Given the description of an element on the screen output the (x, y) to click on. 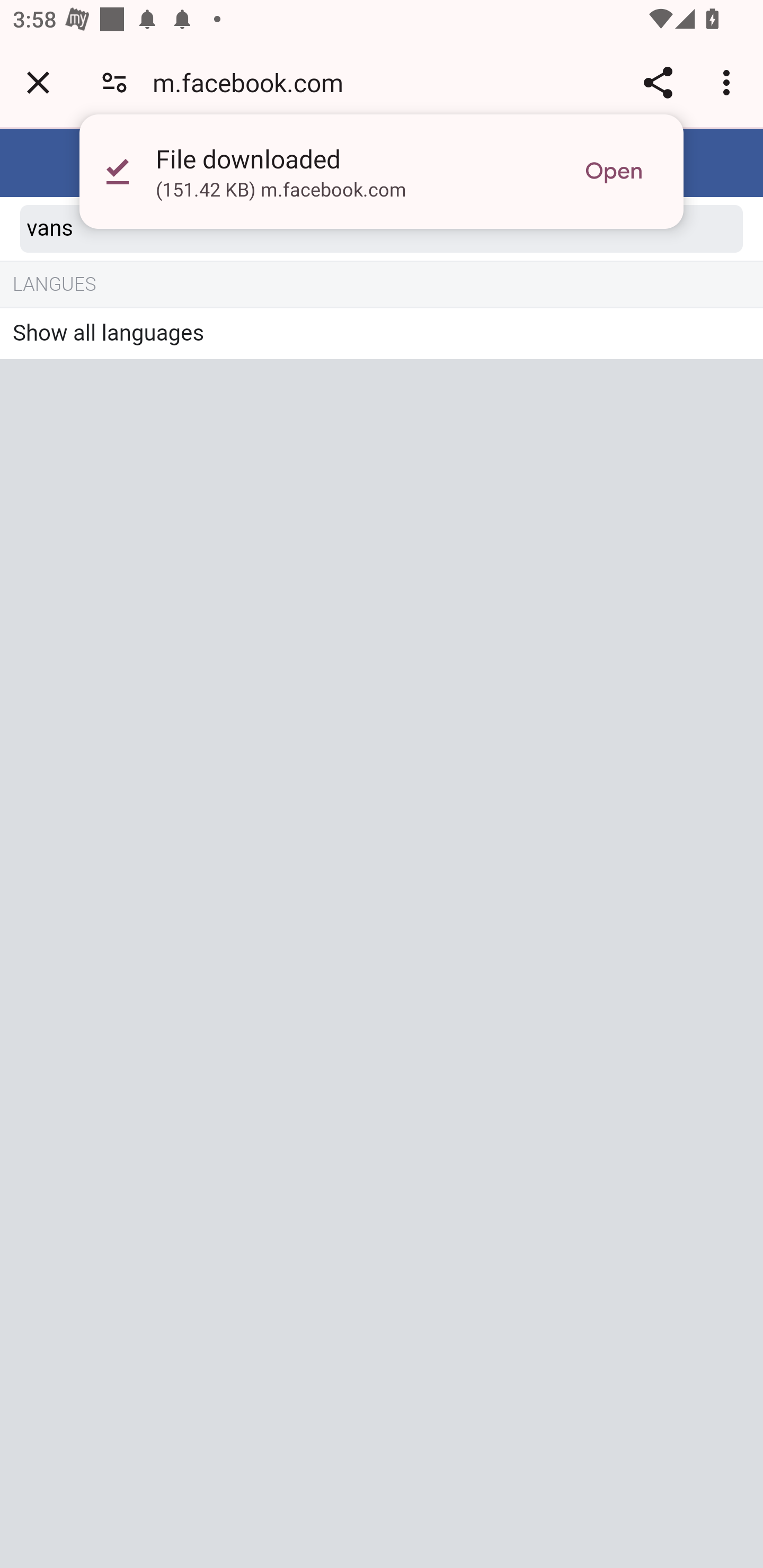
Close tab (38, 82)
Share (657, 82)
Customize and control Google Chrome (729, 82)
Connection is secure (114, 81)
m.facebook.com (254, 81)
Open (613, 171)
vans (381, 228)
